Given the description of an element on the screen output the (x, y) to click on. 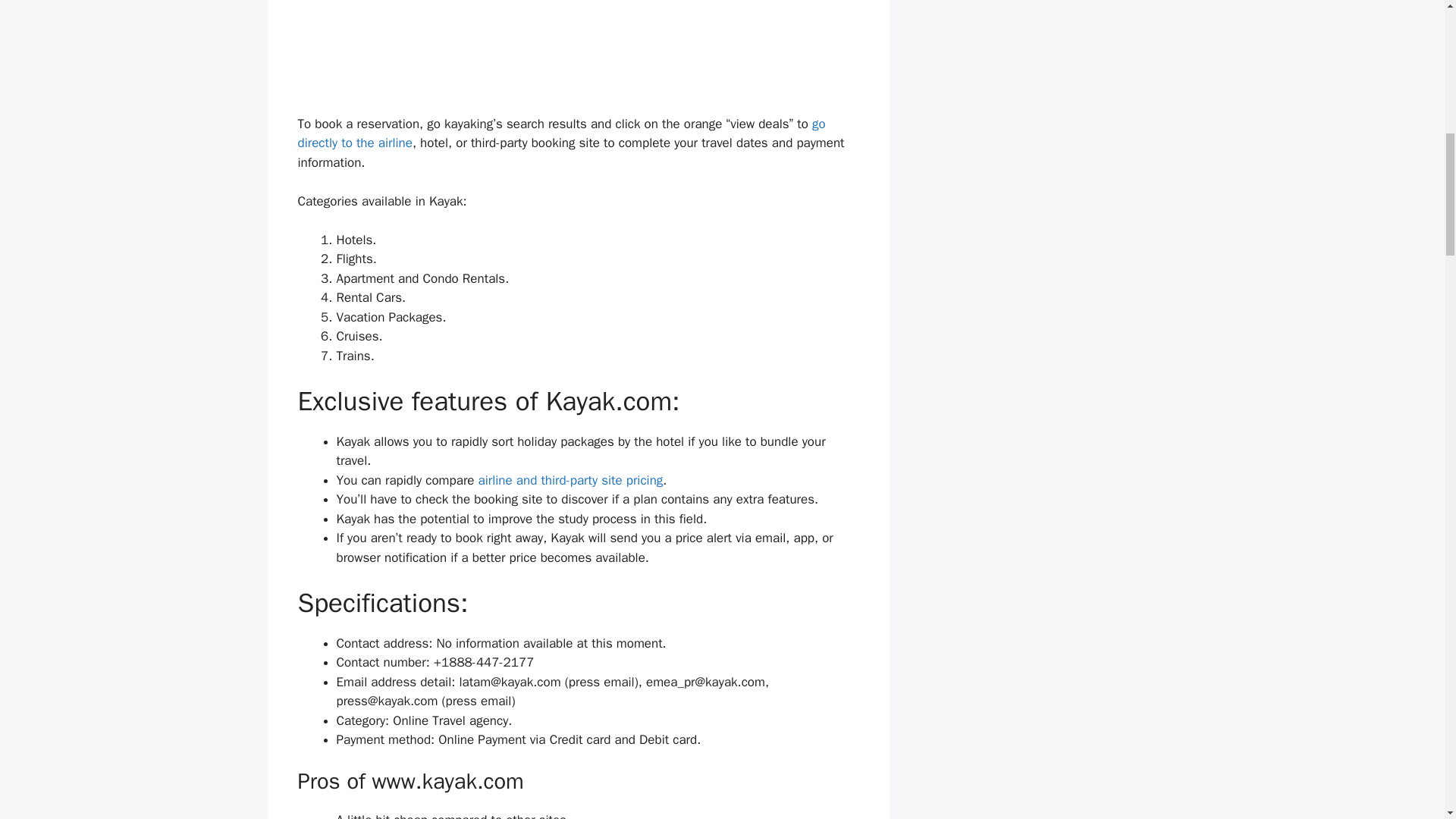
go directly to the airline (561, 133)
airline and third-party site pricing (571, 480)
Advertisement (578, 57)
